Given the description of an element on the screen output the (x, y) to click on. 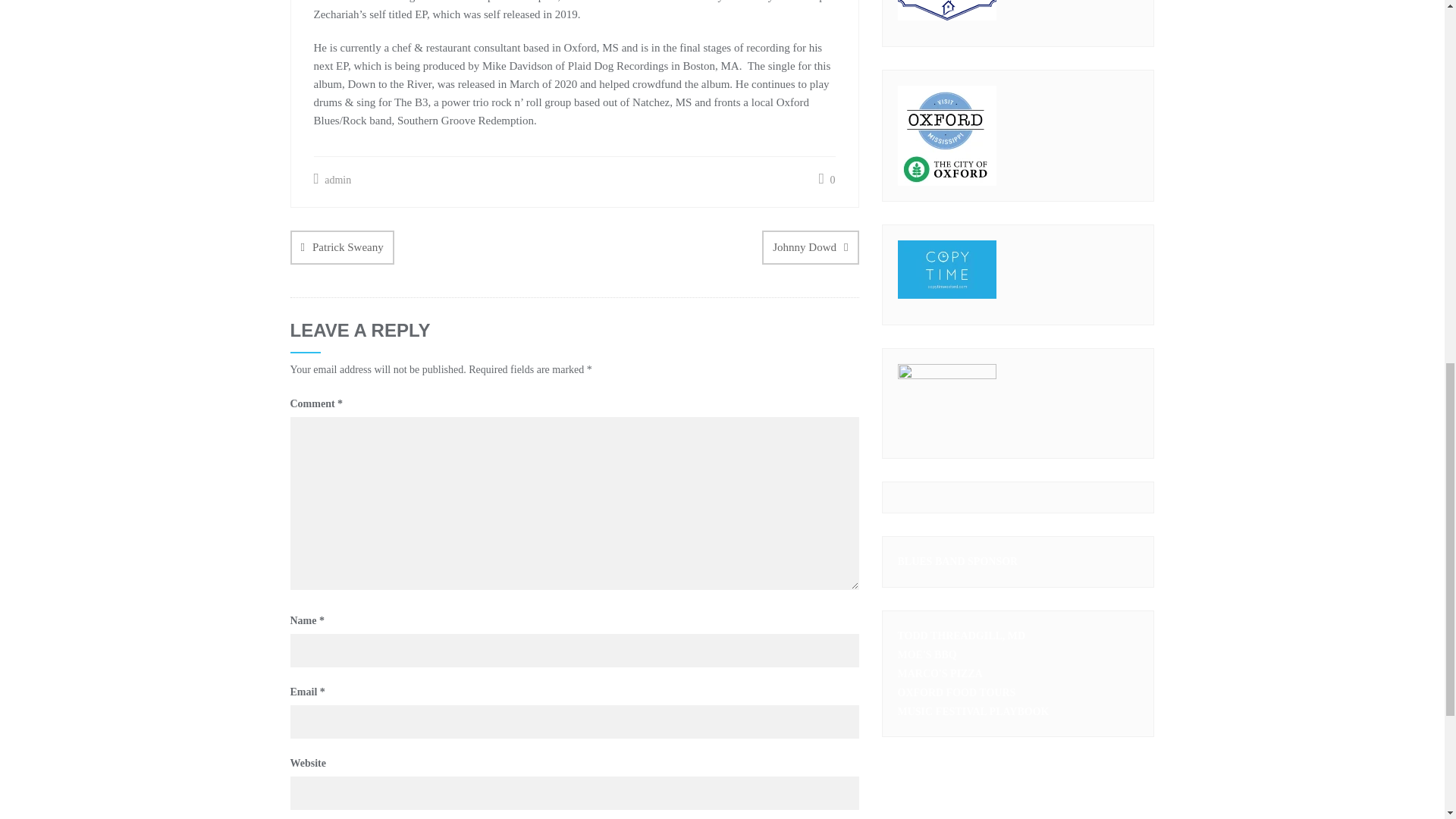
Patrick Sweany (341, 247)
Johnny Dowd (810, 247)
admin (333, 179)
